Given the description of an element on the screen output the (x, y) to click on. 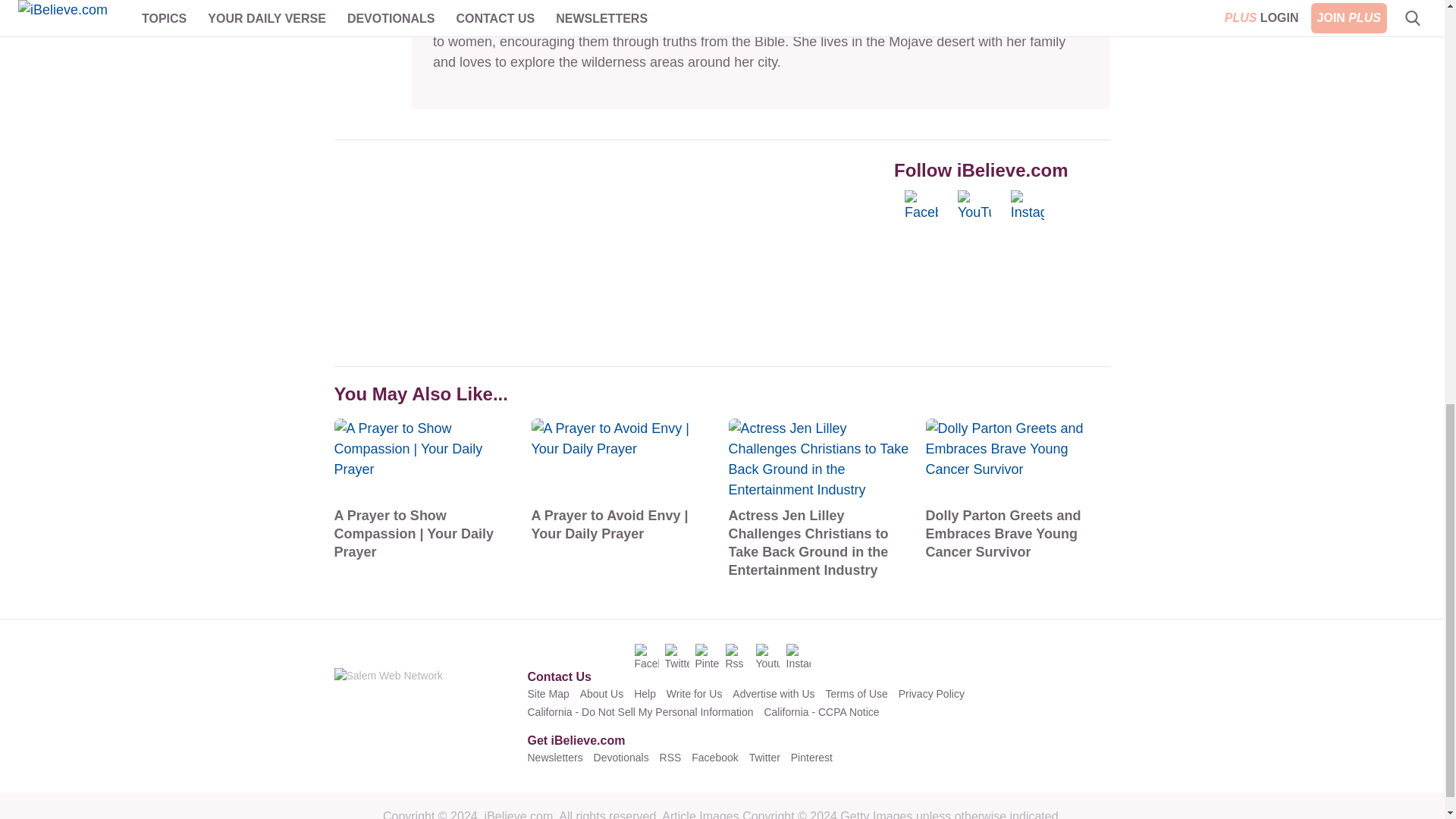
Facebook (928, 206)
YouTube (981, 206)
Instagram (1034, 206)
